Given the description of an element on the screen output the (x, y) to click on. 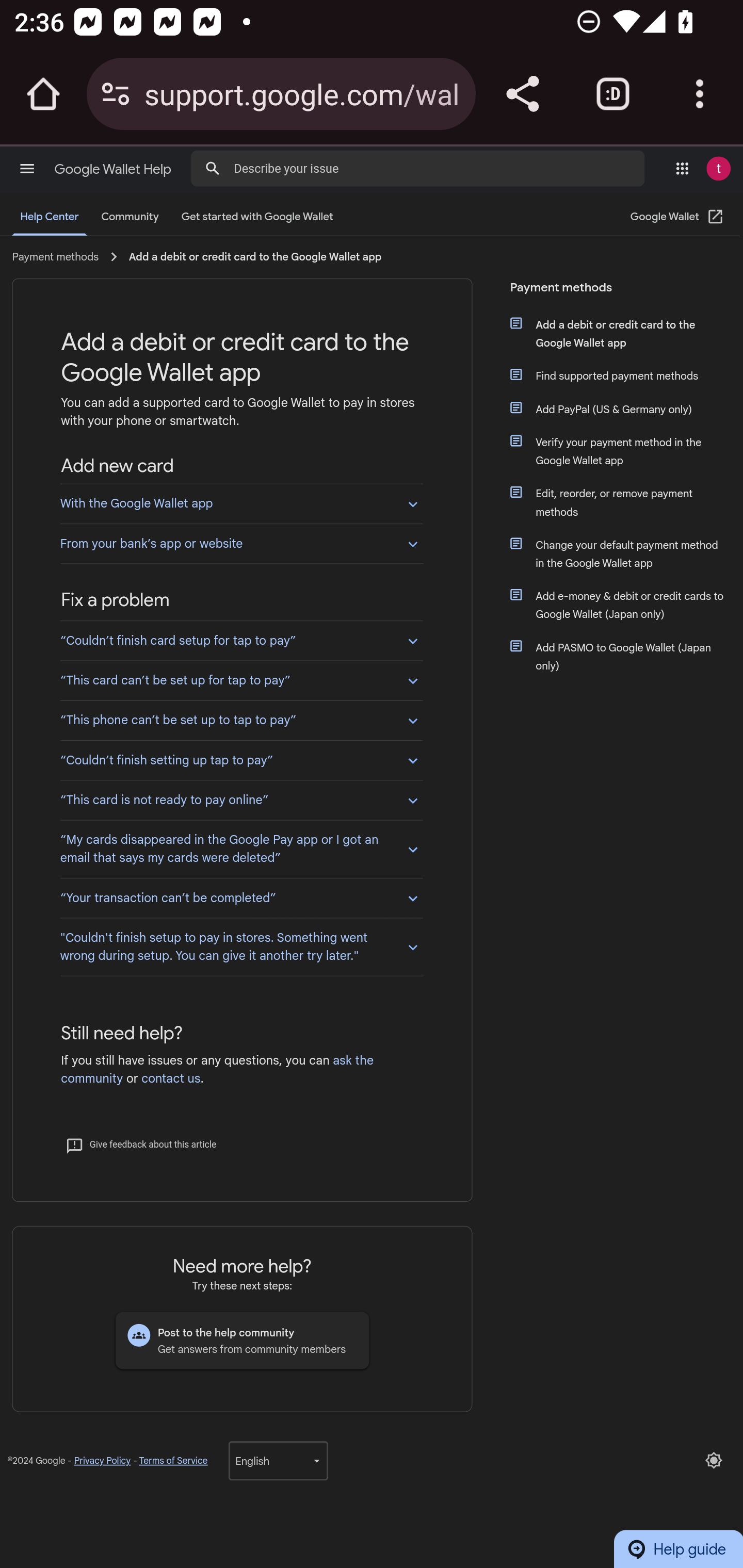
Open the home page (43, 93)
Connection is secure (115, 93)
Share (522, 93)
Switch or close tabs (612, 93)
Customize and control Google Chrome (699, 93)
Main menu (27, 168)
Google Wallet Help (114, 169)
Search Help Center (212, 167)
Google apps (681, 168)
Help Center (48, 217)
Community (129, 217)
Get started with Google Wallet (256, 217)
Google Wallet (Open in a new window) Google Wallet (677, 217)
Payment methods (54, 256)
Payment methods Payment methods Payment methods (618, 292)
Find supported payment methods (626, 376)
Add PayPal (US & Germany only) (626, 409)
Edit, reorder, or remove payment methods (626, 502)
With the Google Wallet app (240, 502)
From your bank’s app or website (240, 543)
“Couldn’t finish card setup for tap to pay” (240, 639)
Add PASMO to Google Wallet (Japan only) (626, 656)
“This card can’t be set up for tap to pay” (240, 679)
“This phone can’t be set up to tap to pay” (240, 719)
“Couldn’t finish setting up tap to pay” (240, 758)
“This card is not ready to pay online” (240, 799)
“Your transaction can’t be completed” (240, 898)
ask the community (216, 1069)
contact us (170, 1078)
Give feedback about this article (140, 1143)
Language (English‎) (277, 1460)
Disable Dark Mode (713, 1459)
Privacy Policy (101, 1461)
Terms of Service (173, 1461)
Help guide (677, 1548)
